Given the description of an element on the screen output the (x, y) to click on. 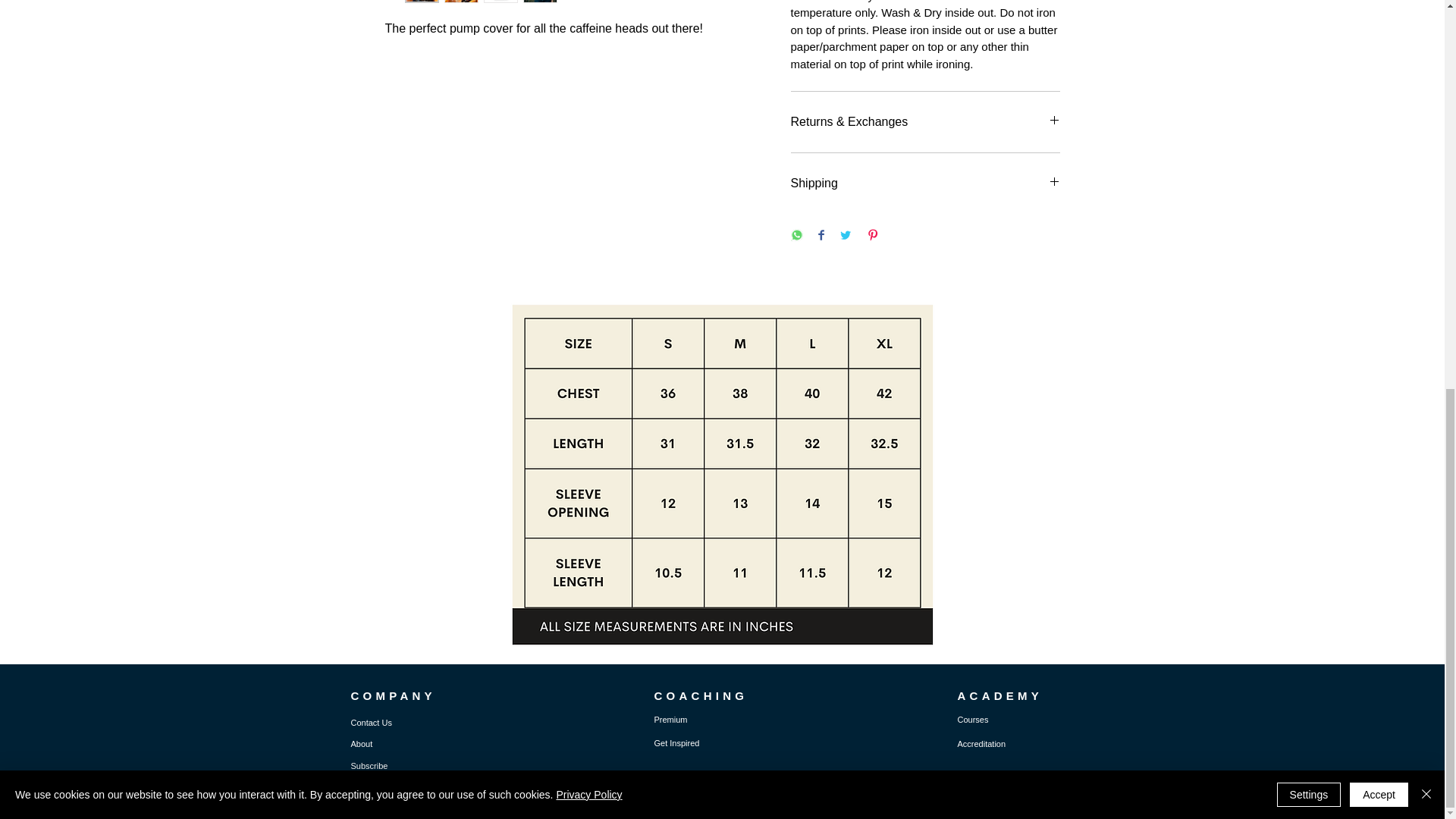
Accreditation (981, 743)
Get Inspired (675, 742)
Accept (1378, 55)
Privacy Policy (588, 55)
Shipping (924, 183)
About (361, 743)
Contact Us (370, 722)
Premium (670, 718)
Settings (1308, 55)
Subscribe (368, 765)
